Given the description of an element on the screen output the (x, y) to click on. 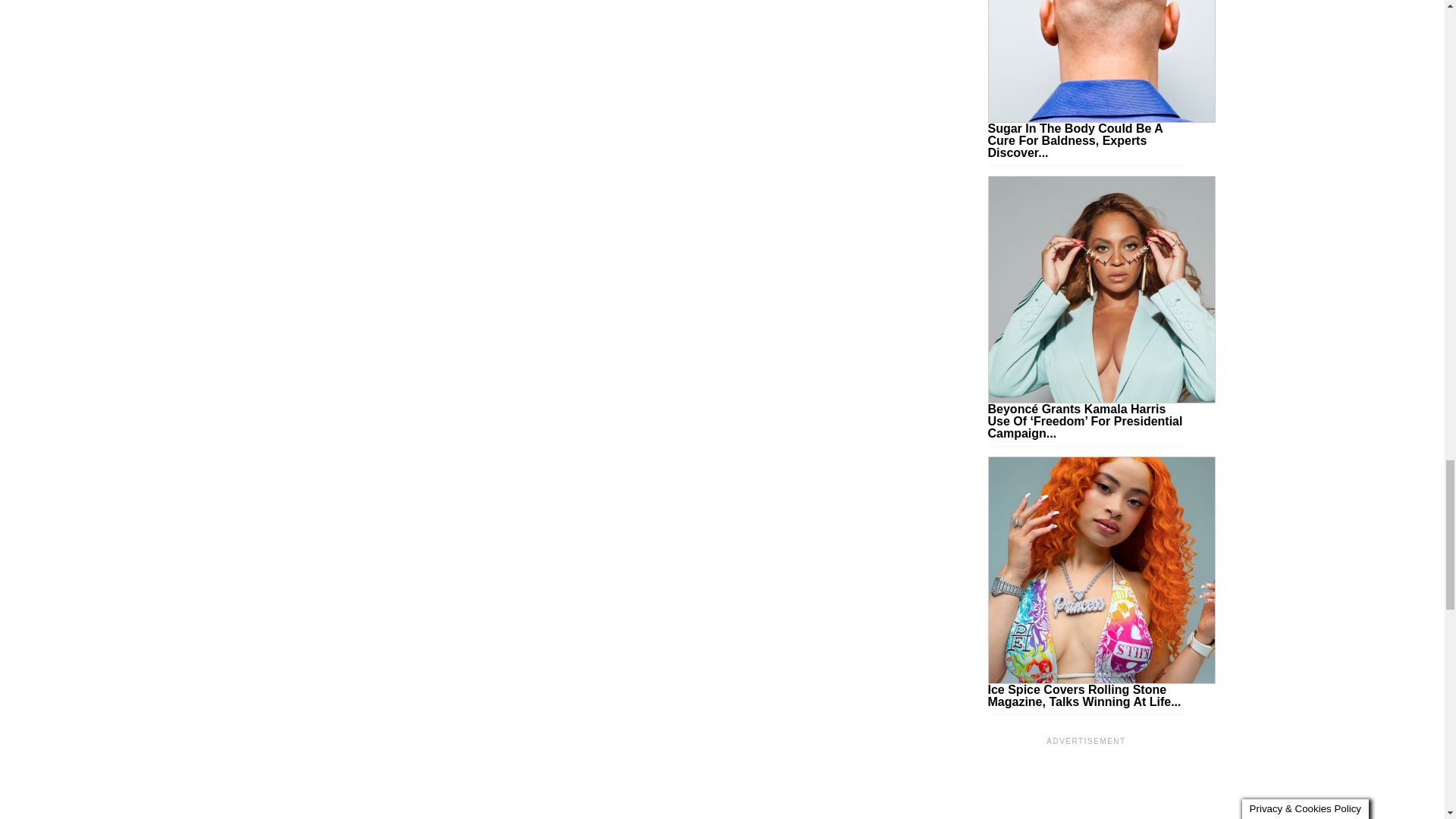
3rd party ad content (1085, 783)
